Given the description of an element on the screen output the (x, y) to click on. 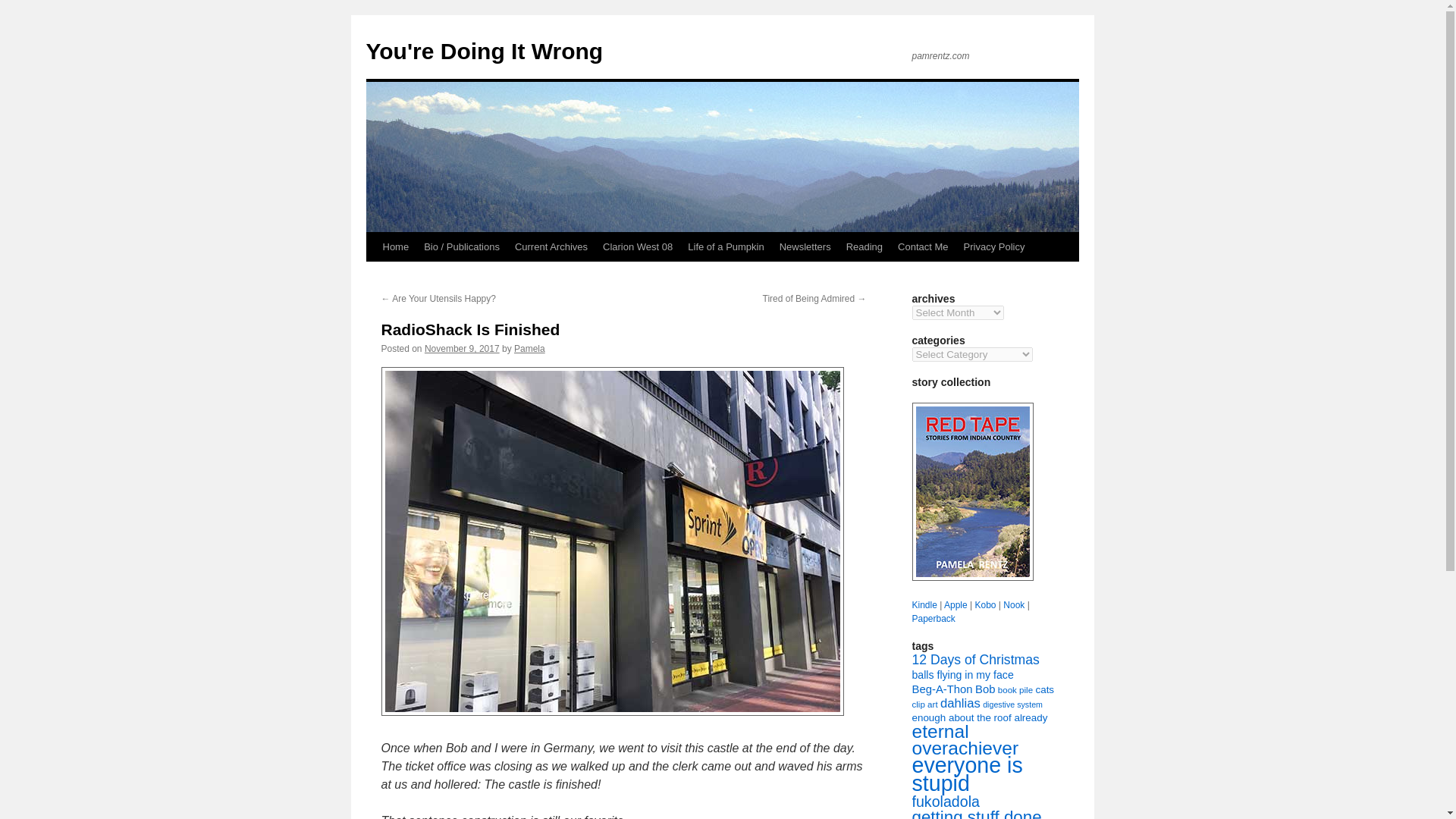
getting stuff done (976, 813)
fukoladola (944, 801)
Apple (955, 604)
12 Days of Christmas (975, 659)
Pamela (528, 348)
book pile (1014, 689)
everyone is stupid (966, 773)
cats (1044, 689)
Beg-A-Thon (941, 689)
Newsletters (804, 246)
enough about the roof already (978, 717)
12:44 pm (462, 348)
Reading (863, 246)
Bob (984, 689)
Paperback (933, 618)
